Given the description of an element on the screen output the (x, y) to click on. 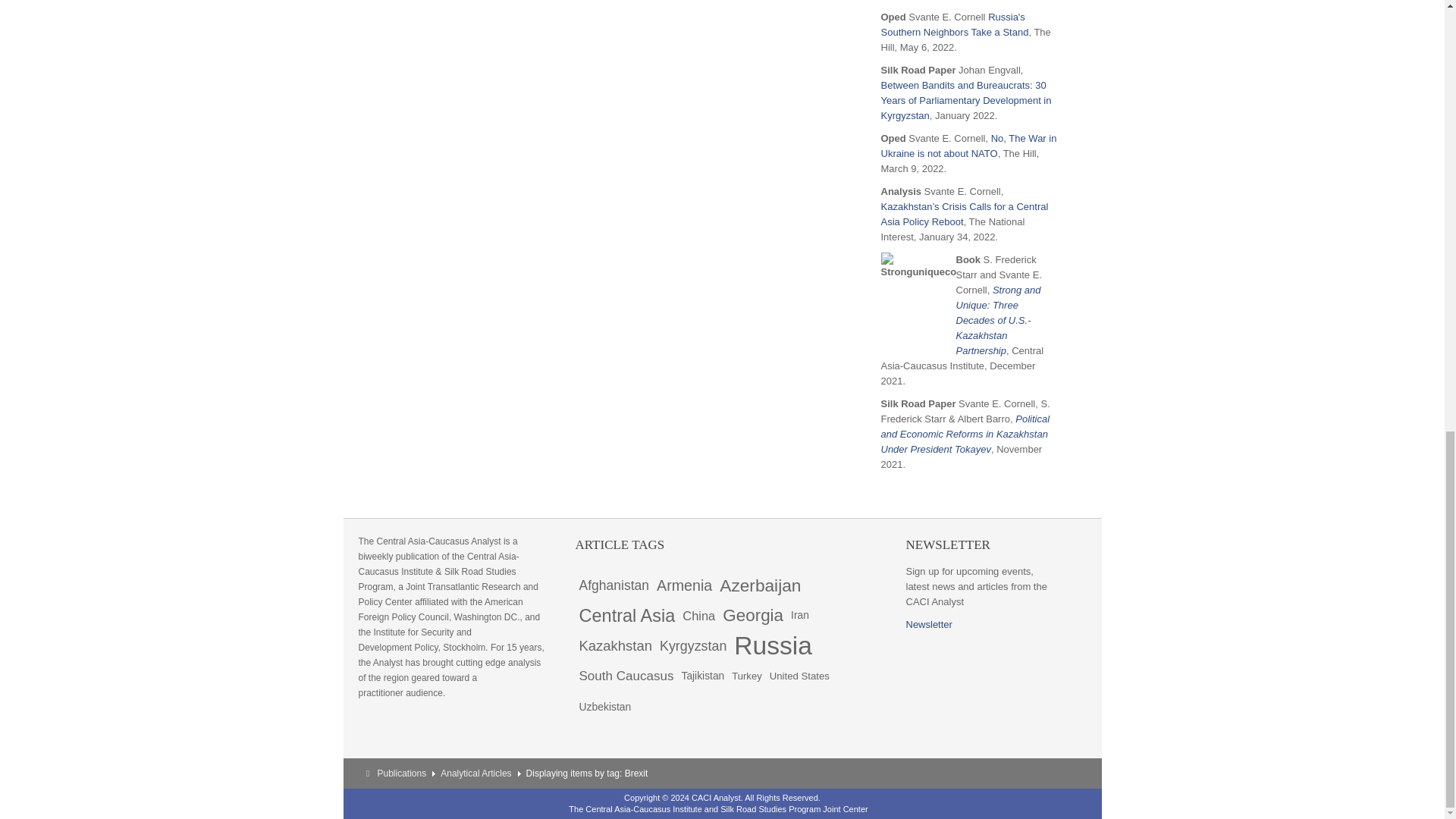
114 items tagged with Afghanistan (613, 585)
171 items tagged with Georgia (753, 615)
Azerbaijan (760, 585)
102 items tagged with China (698, 615)
125 items tagged with Kazakhstan (615, 645)
139 items tagged with Armenia (684, 585)
No, The War in Ukraine is not about NATO (968, 145)
303 items tagged with Russia (772, 645)
64 items tagged with United States (798, 675)
Afghanistan (613, 585)
Armenia (684, 585)
62 items tagged with Turkey (746, 675)
109 items tagged with South Caucasus (626, 675)
